Given the description of an element on the screen output the (x, y) to click on. 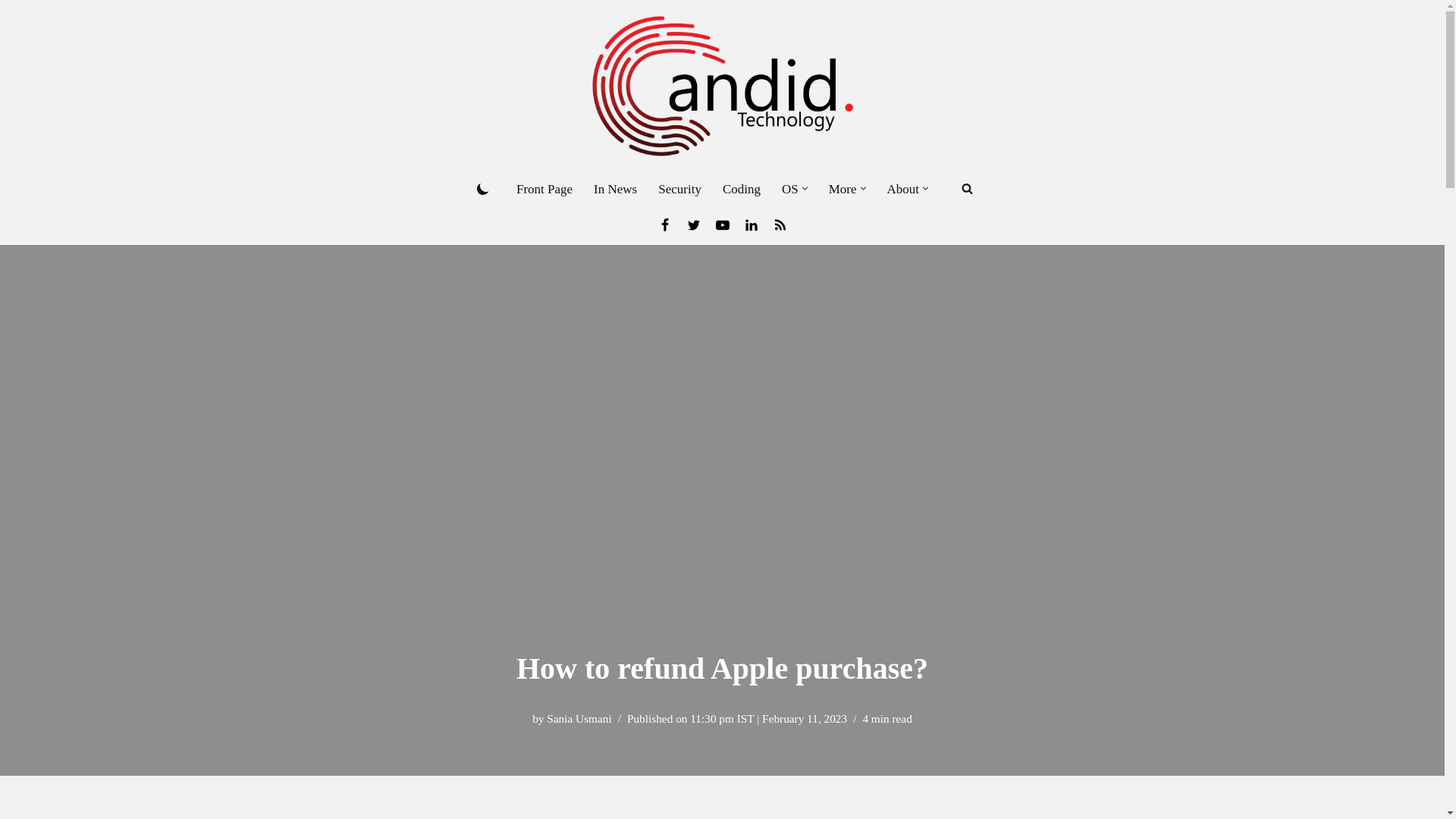
Front Page (544, 188)
More (842, 188)
In News (615, 188)
Coding (741, 188)
Facebook (664, 224)
Youtube (721, 224)
Posts by Sania Usmani (579, 717)
Security (679, 188)
About (903, 188)
Linkedin (750, 224)
